Given the description of an element on the screen output the (x, y) to click on. 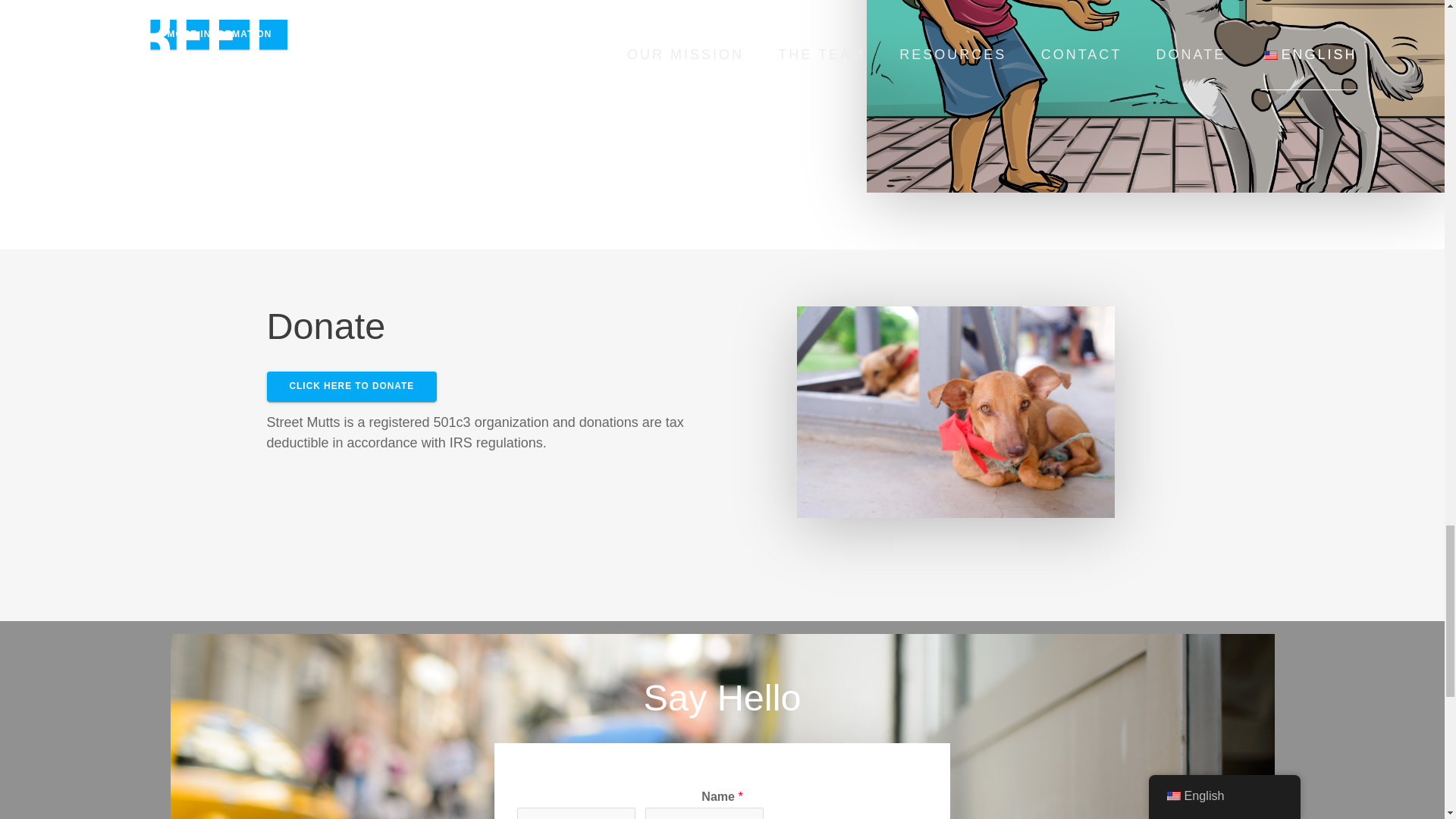
CLICK HERE TO DONATE (352, 386)
MORE INFORMATION (219, 34)
